Given the description of an element on the screen output the (x, y) to click on. 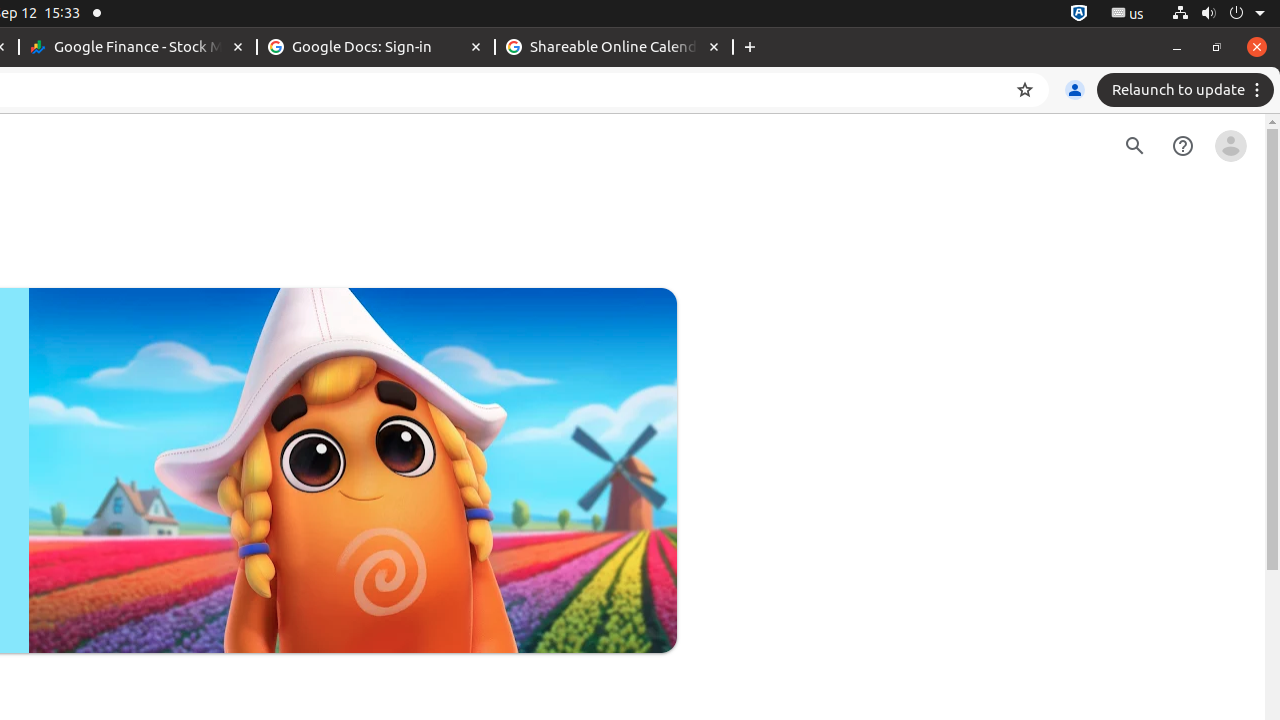
:1.72/StatusNotifierItem Element type: menu (1079, 13)
Open account menu Element type: push-button (1231, 146)
